Given the description of an element on the screen output the (x, y) to click on. 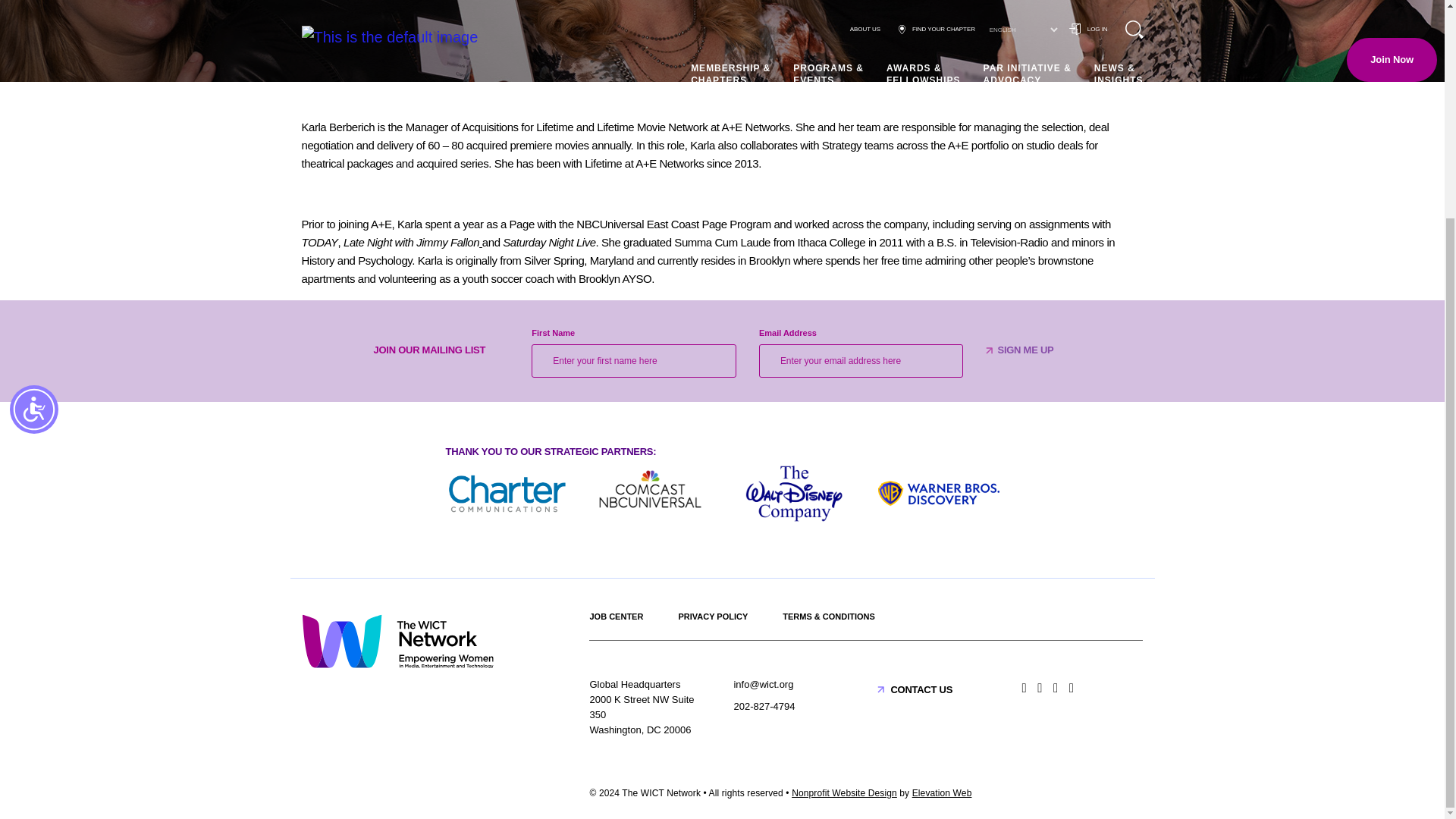
Accessibility Menu (34, 121)
Sign Me up (1024, 350)
